Given the description of an element on the screen output the (x, y) to click on. 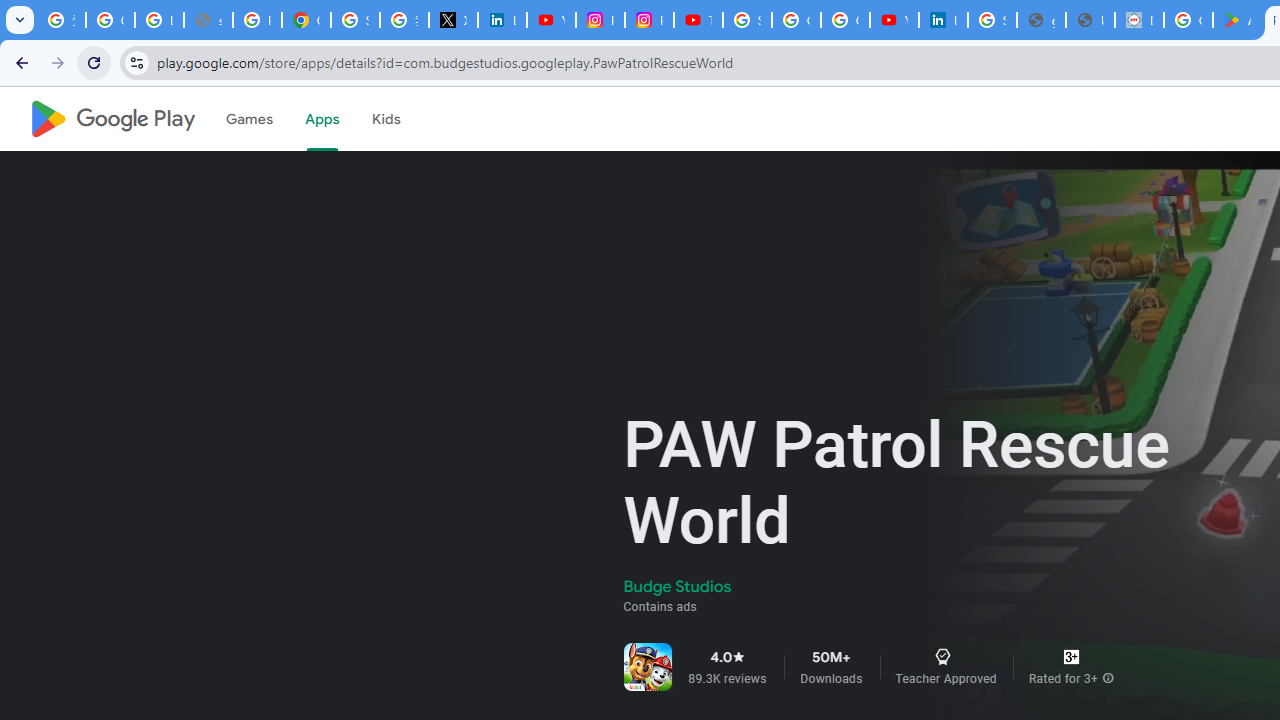
Kids (385, 119)
User Details (1090, 20)
X (452, 20)
google_privacy_policy_en.pdf (1041, 20)
Sign in - Google Accounts (747, 20)
Privacy Help Center - Policies Help (257, 20)
More info about this content rating (1108, 678)
Apps (321, 119)
Identity verification via Persona | LinkedIn Help (943, 20)
